Given the description of an element on the screen output the (x, y) to click on. 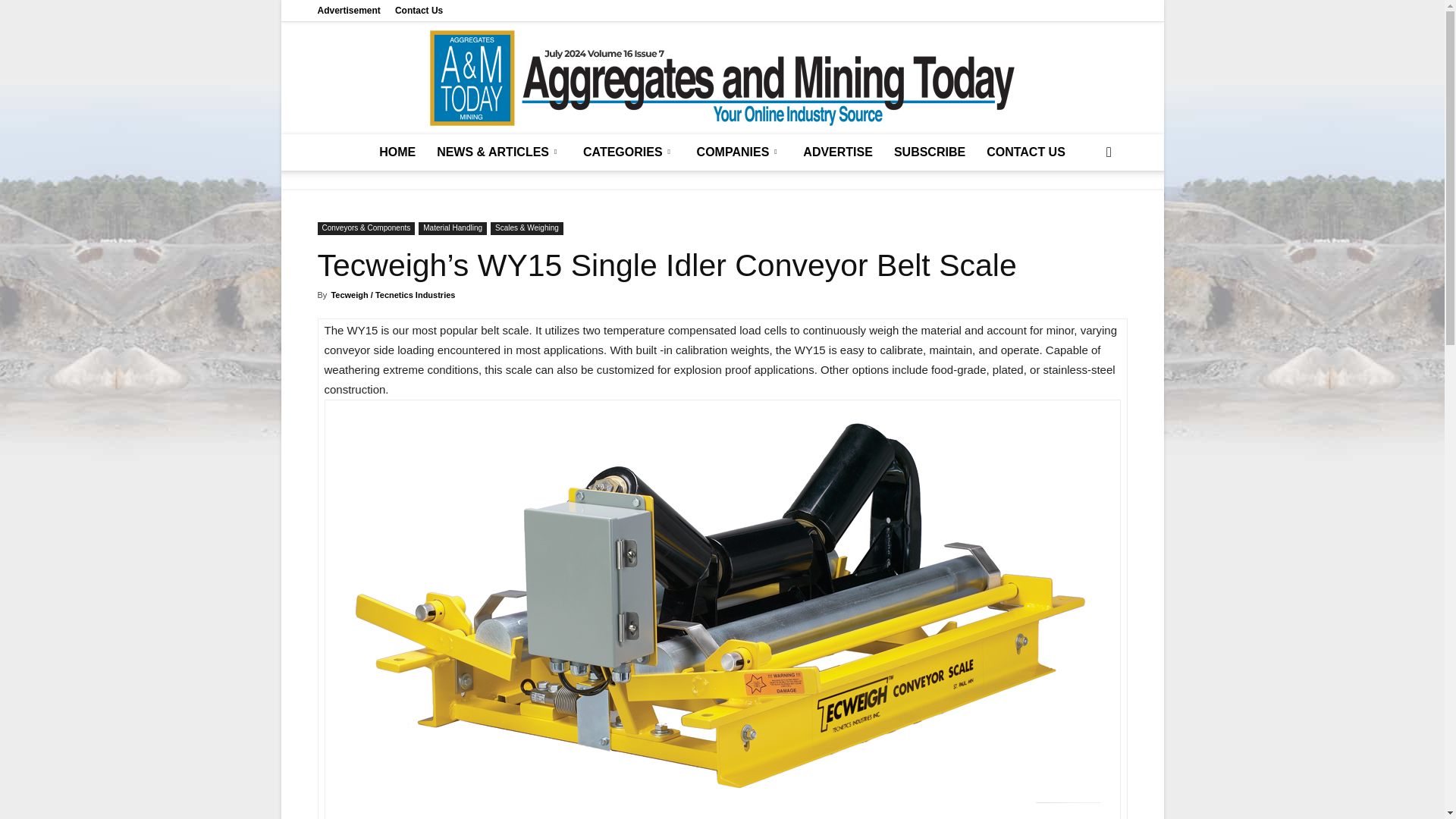
Youtube (1114, 10)
Linkedin (1065, 10)
Twitter (1090, 10)
Facebook (1040, 10)
